Given the description of an element on the screen output the (x, y) to click on. 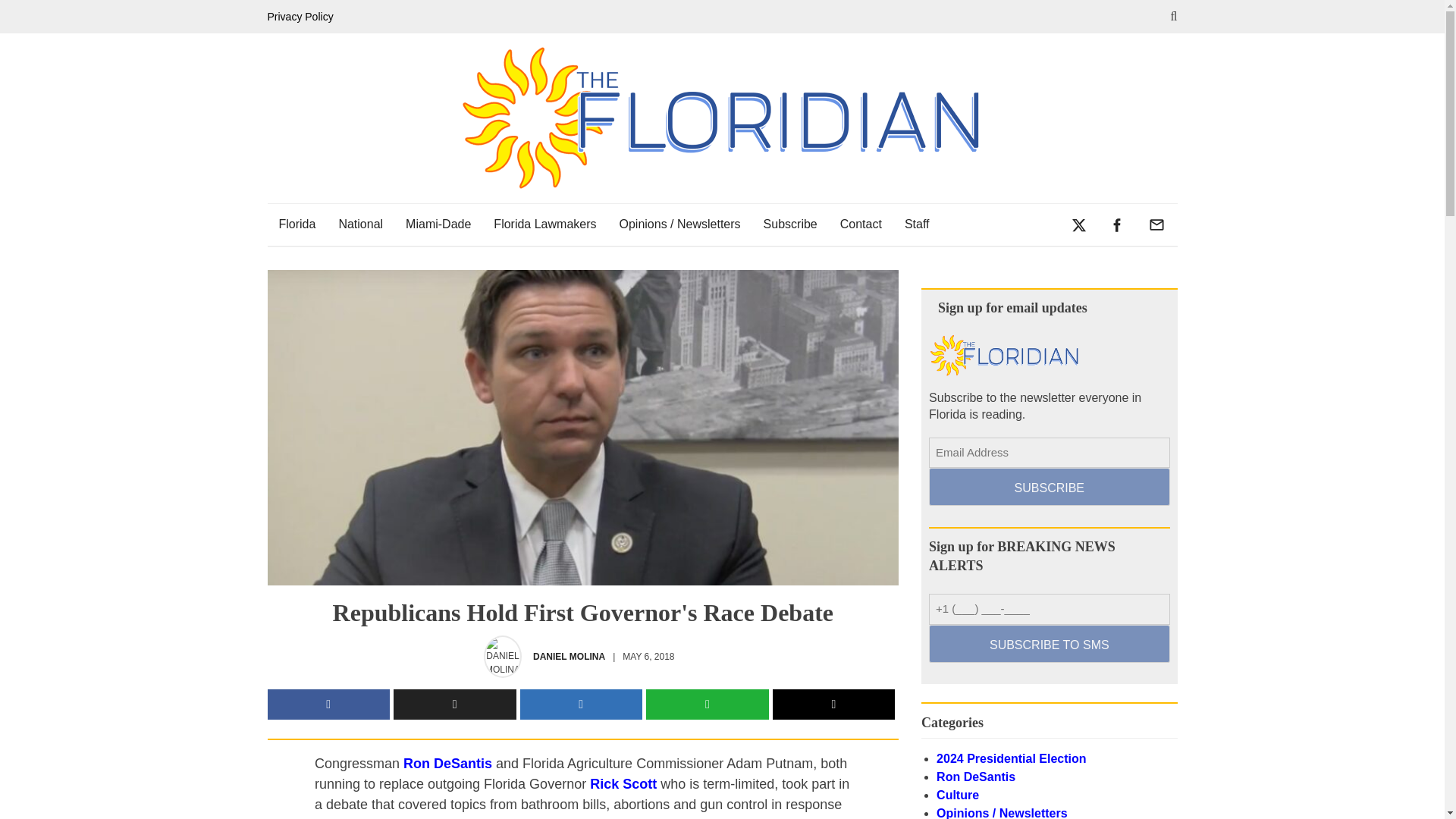
Privacy Policy (303, 16)
Contact (860, 223)
Ron DeSantis (447, 763)
Florida Lawmakers (544, 223)
SUBSCRIBE (1048, 486)
National (360, 223)
Florida (296, 223)
Miami-Dade (437, 223)
Subscribe (790, 223)
Staff (916, 223)
DANIEL MOLINA (568, 656)
Rick Scott (622, 783)
SUBSCRIBE TO SMS (1048, 643)
